Given the description of an element on the screen output the (x, y) to click on. 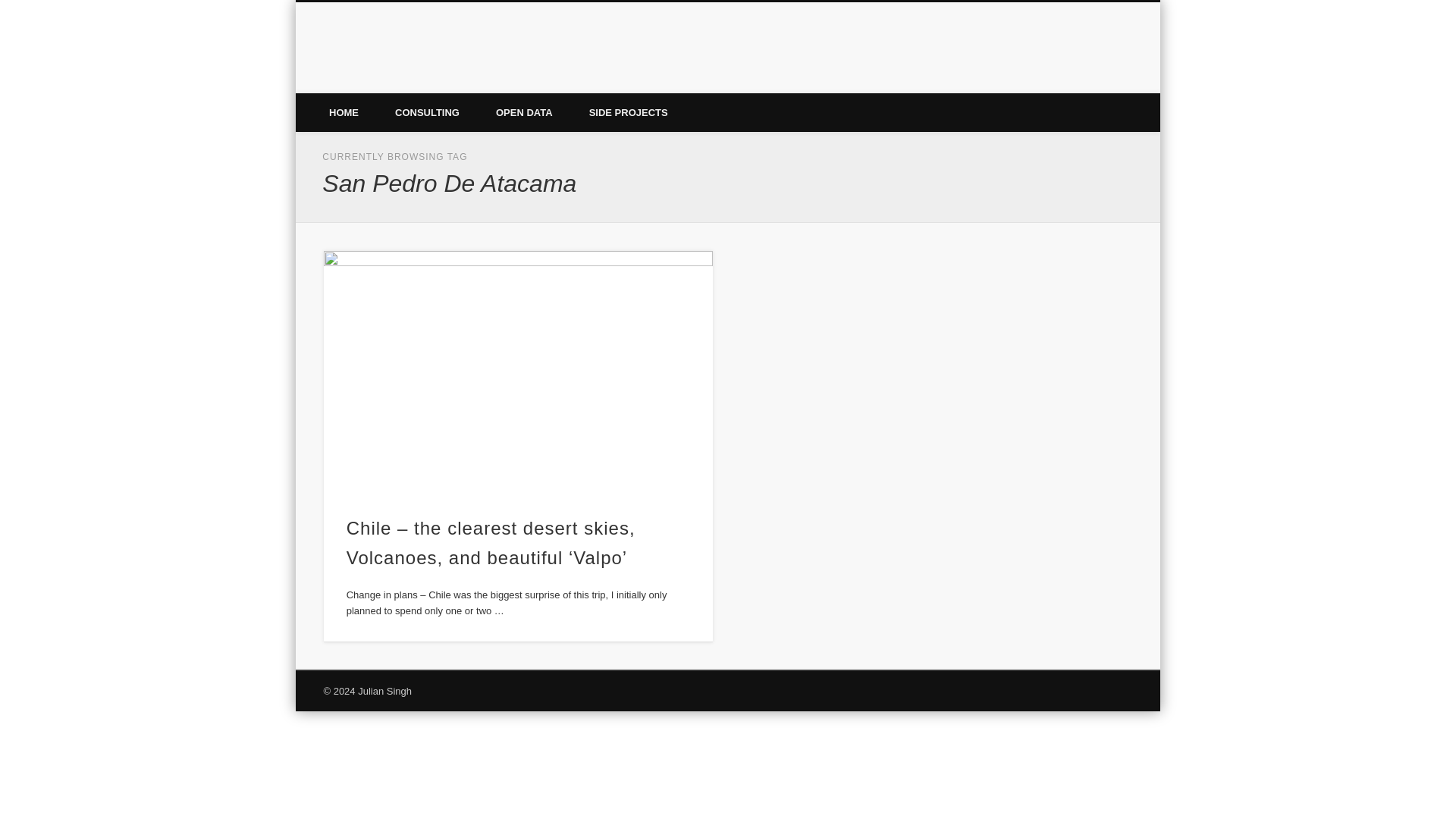
CONSULTING (427, 112)
Julian Singh (394, 59)
SIDE PROJECTS (627, 112)
HOME (344, 112)
OPEN DATA (523, 112)
